Given the description of an element on the screen output the (x, y) to click on. 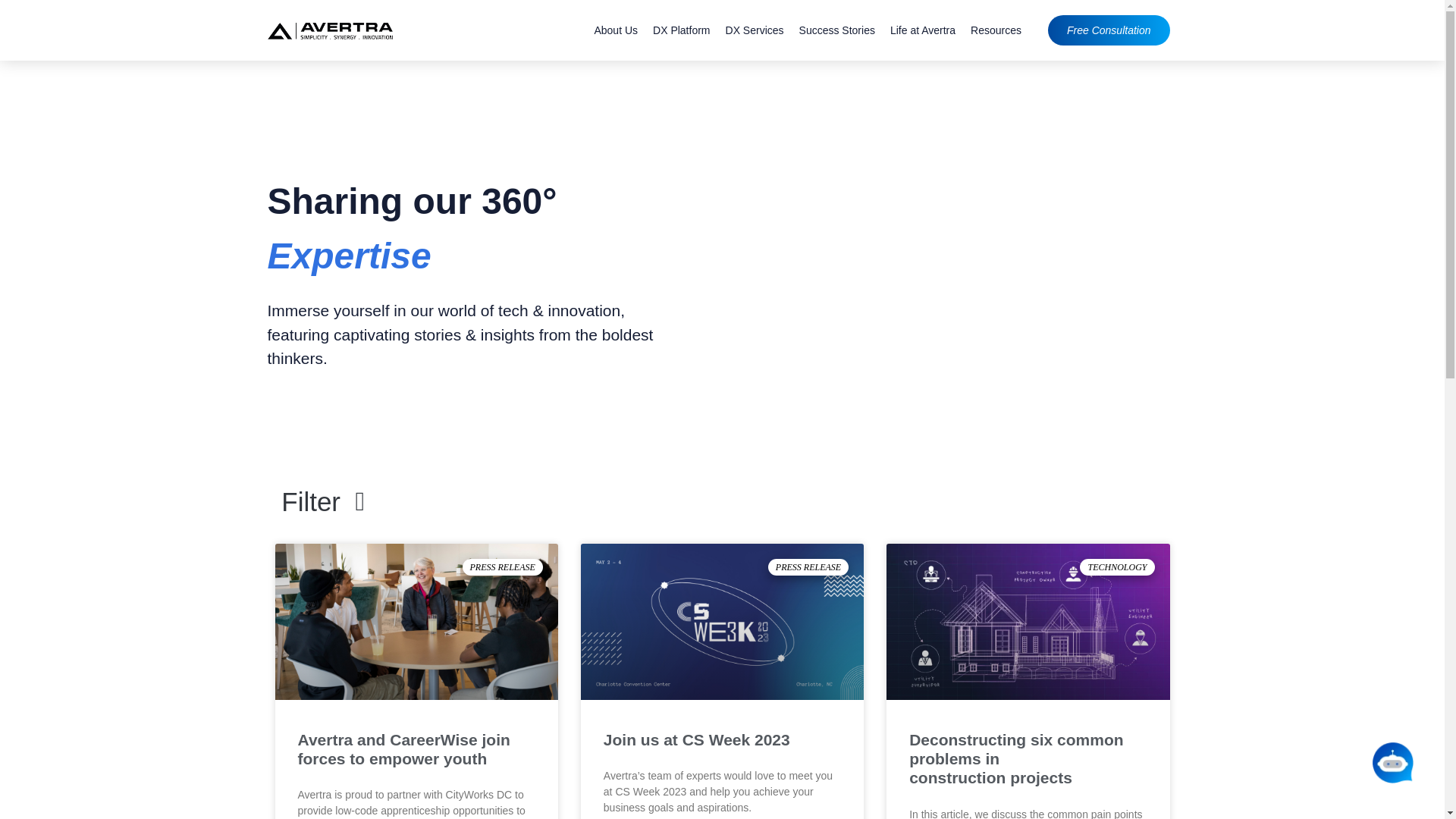
Resources (995, 30)
Free Consultation (1109, 30)
Success Stories (837, 30)
DX Services (754, 30)
Join us at CS Week 2023 (697, 739)
About Us (615, 30)
Avertra and CareerWise join forces to empower youth (403, 749)
Life at Avertra (922, 30)
DX Platform (681, 30)
Deconstructing six common problems in construction projects (1015, 758)
